Given the description of an element on the screen output the (x, y) to click on. 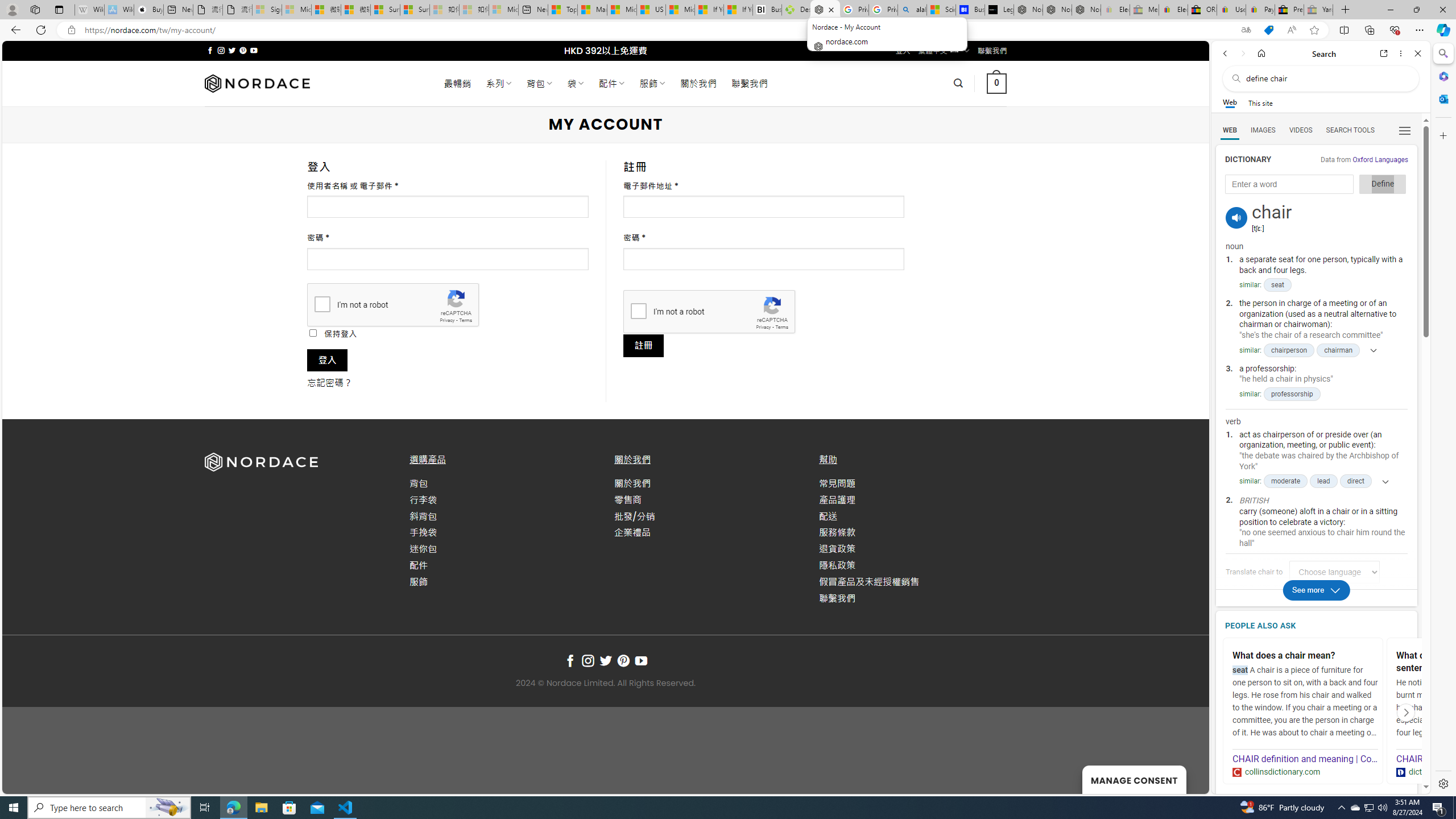
Terms (781, 326)
